Given the description of an element on the screen output the (x, y) to click on. 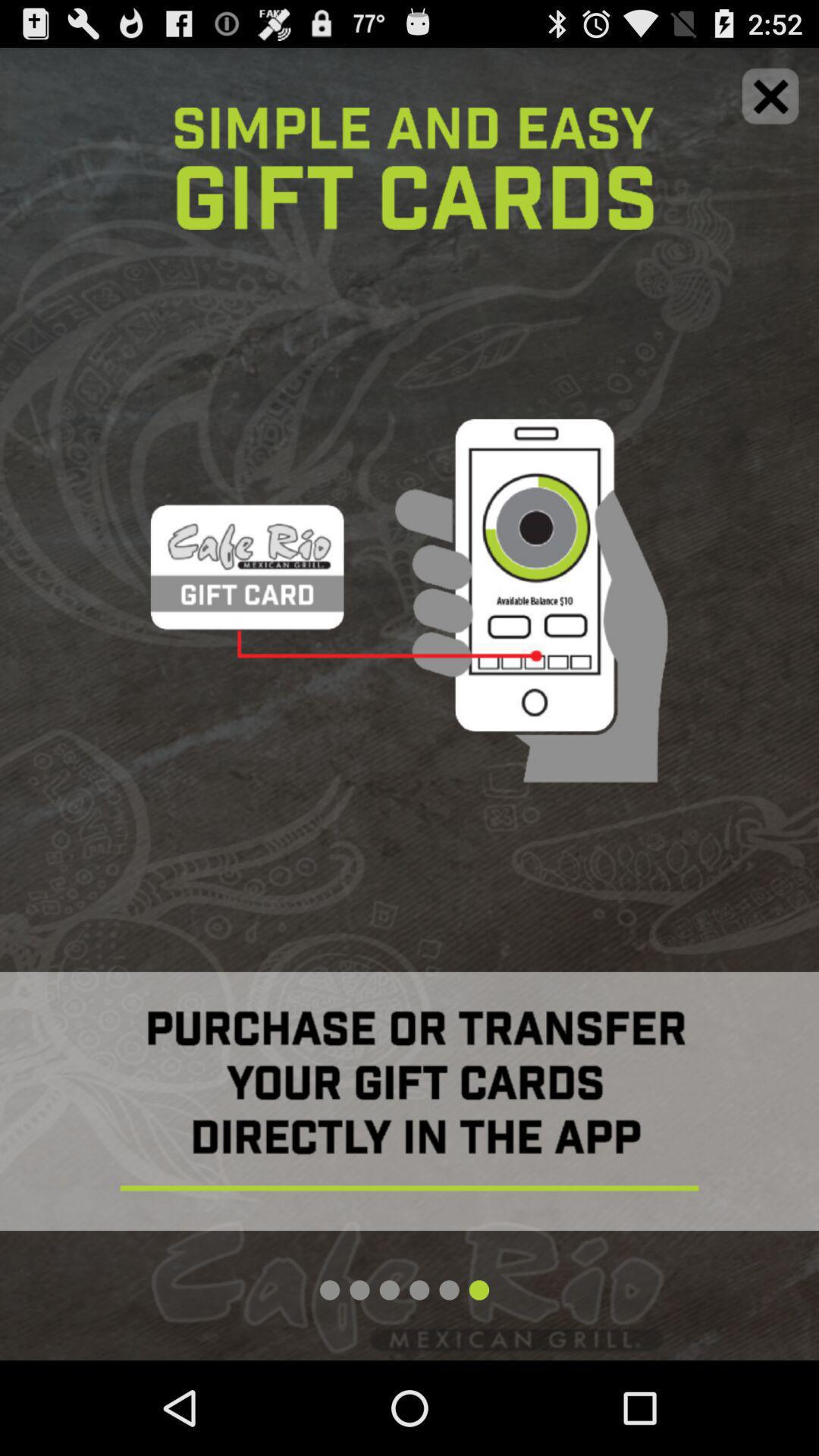
closing icon (770, 95)
